Given the description of an element on the screen output the (x, y) to click on. 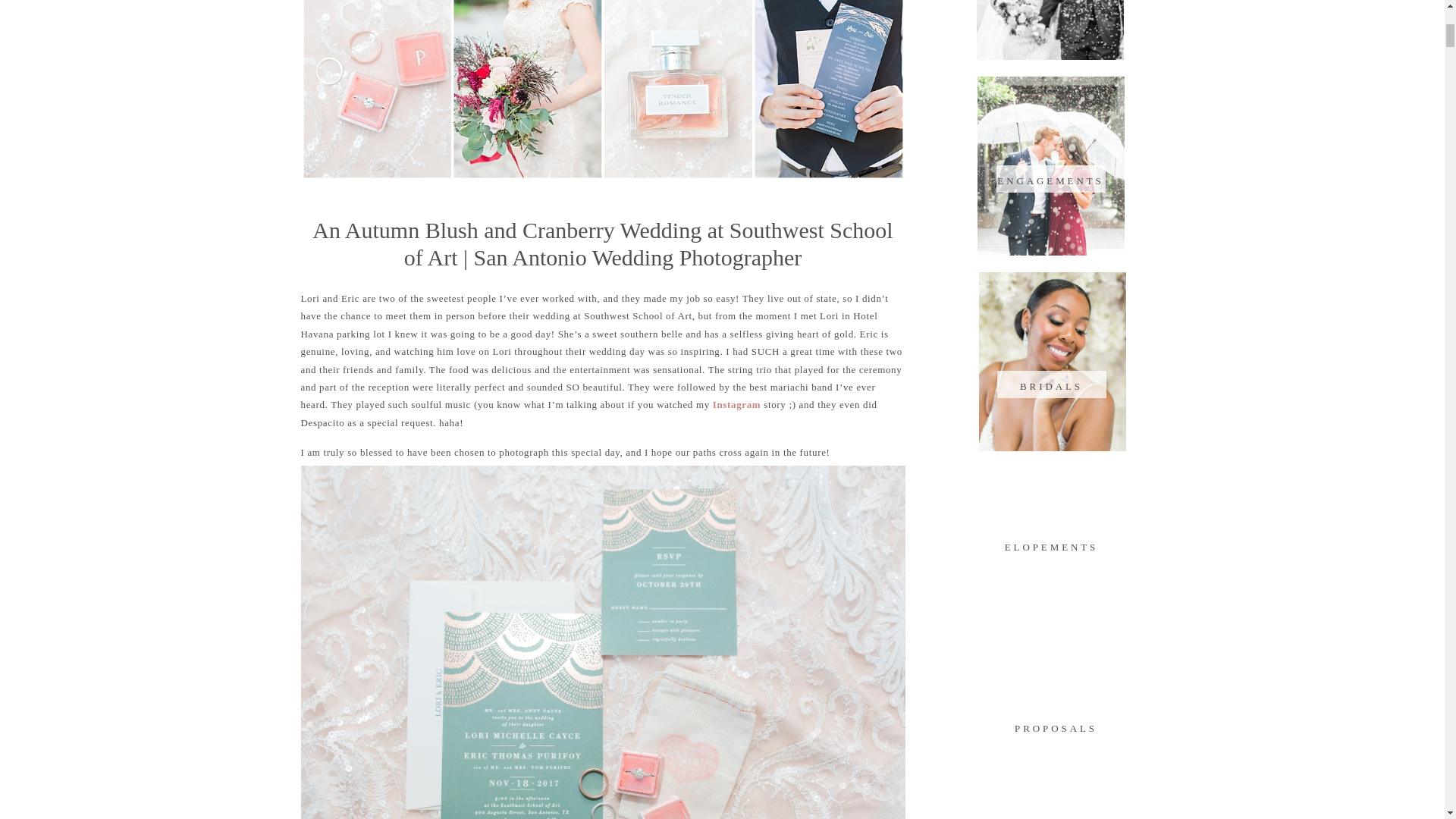
BRIDALS (1051, 384)
ENGAGEMENTS (1049, 178)
PROPOSALS (1056, 726)
ELOPEMENTS (1051, 545)
